Given the description of an element on the screen output the (x, y) to click on. 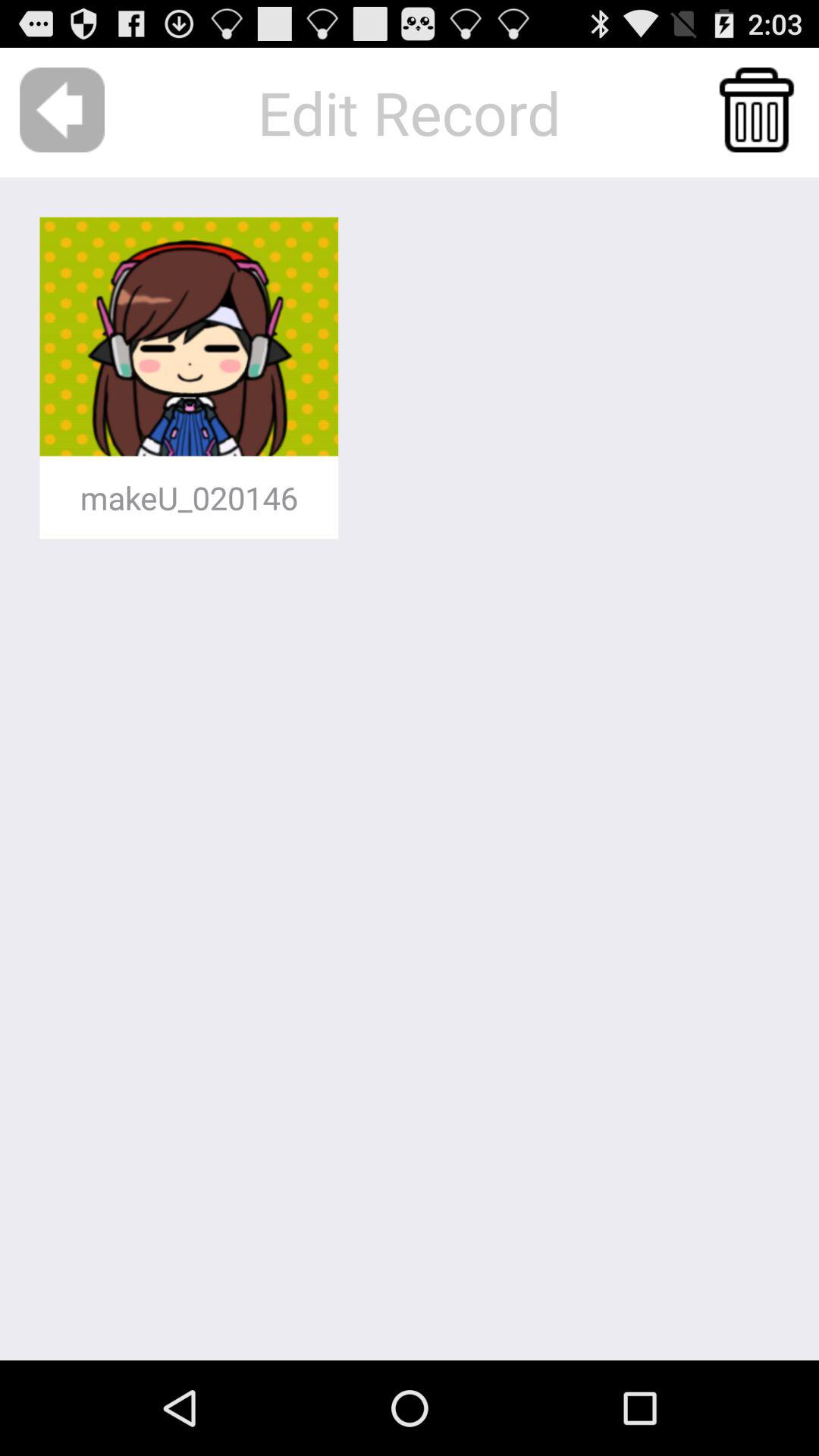
press icon to the left of edit record app (61, 109)
